Given the description of an element on the screen output the (x, y) to click on. 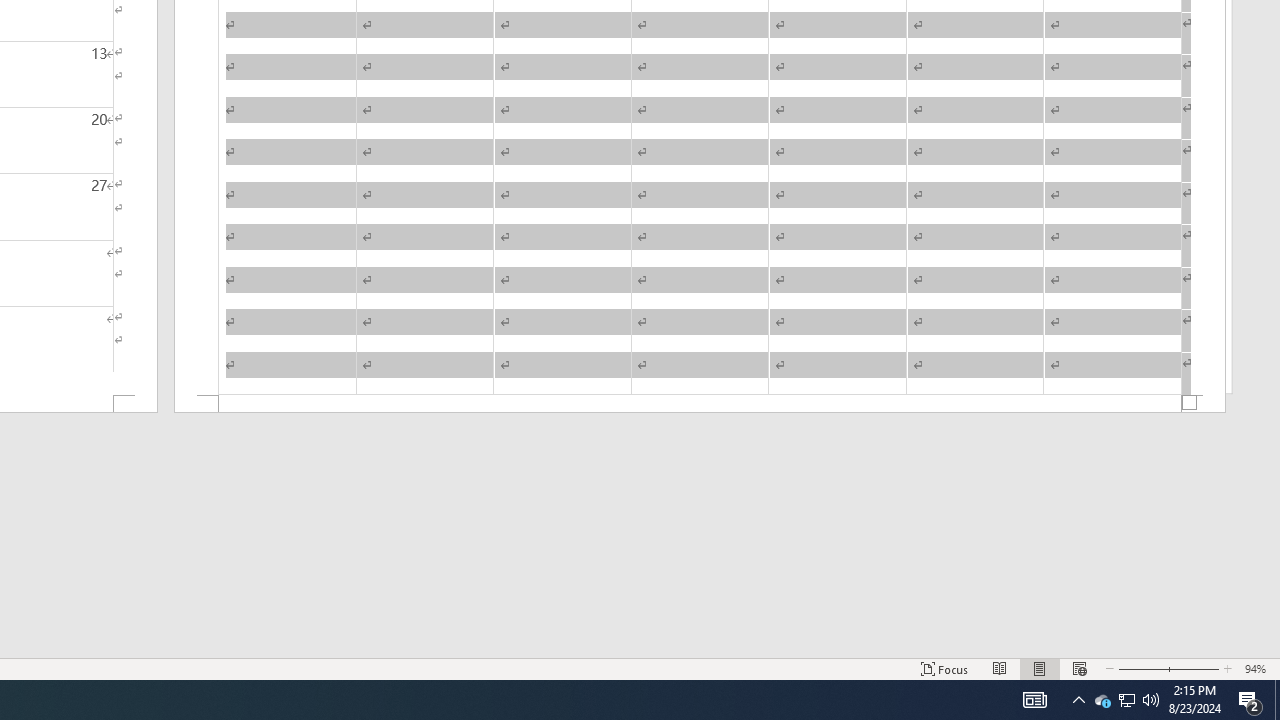
Footer -Section 1- (700, 404)
